Given the description of an element on the screen output the (x, y) to click on. 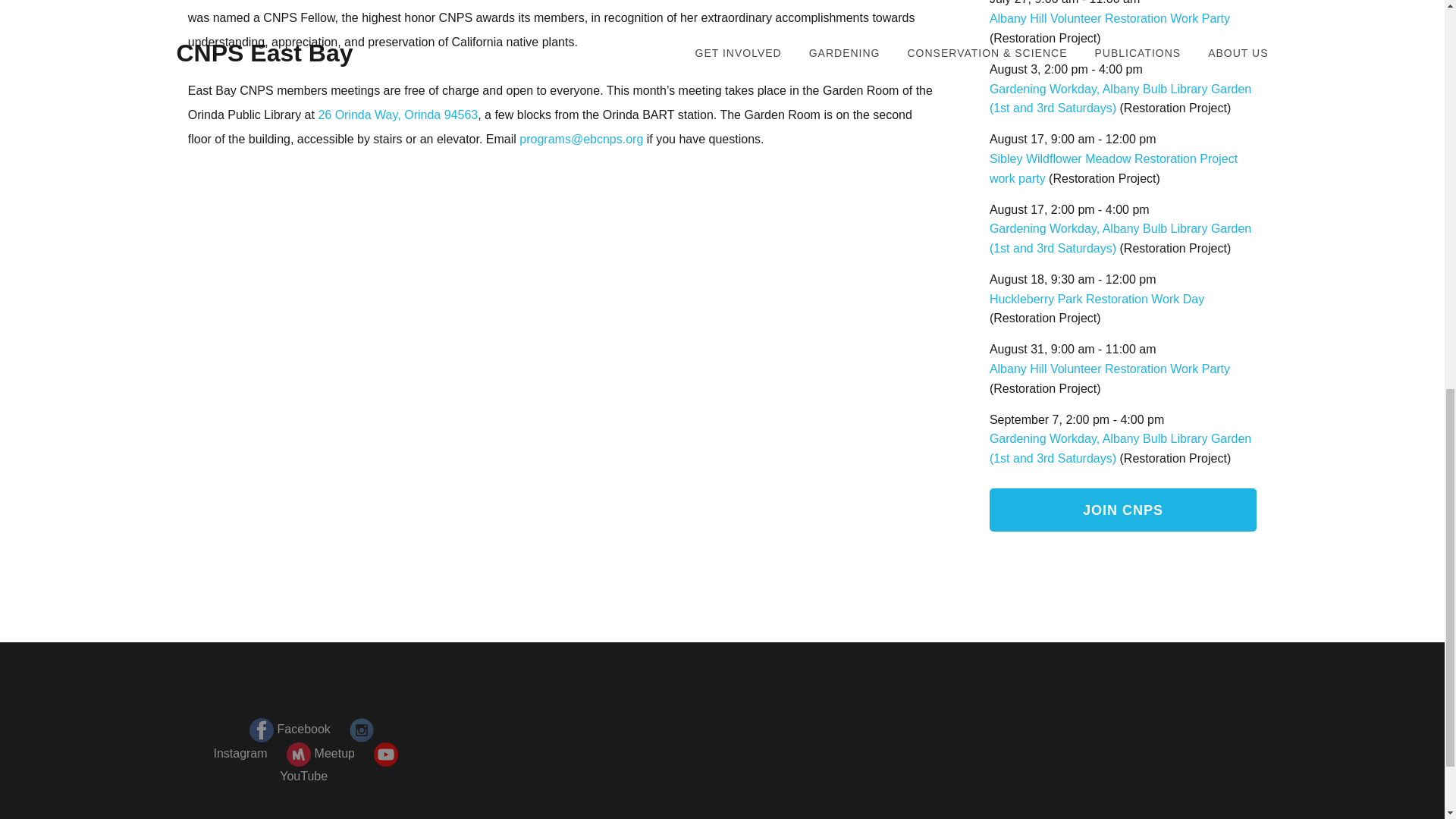
26 Orinda Way, Orinda 94563 (397, 114)
